Given the description of an element on the screen output the (x, y) to click on. 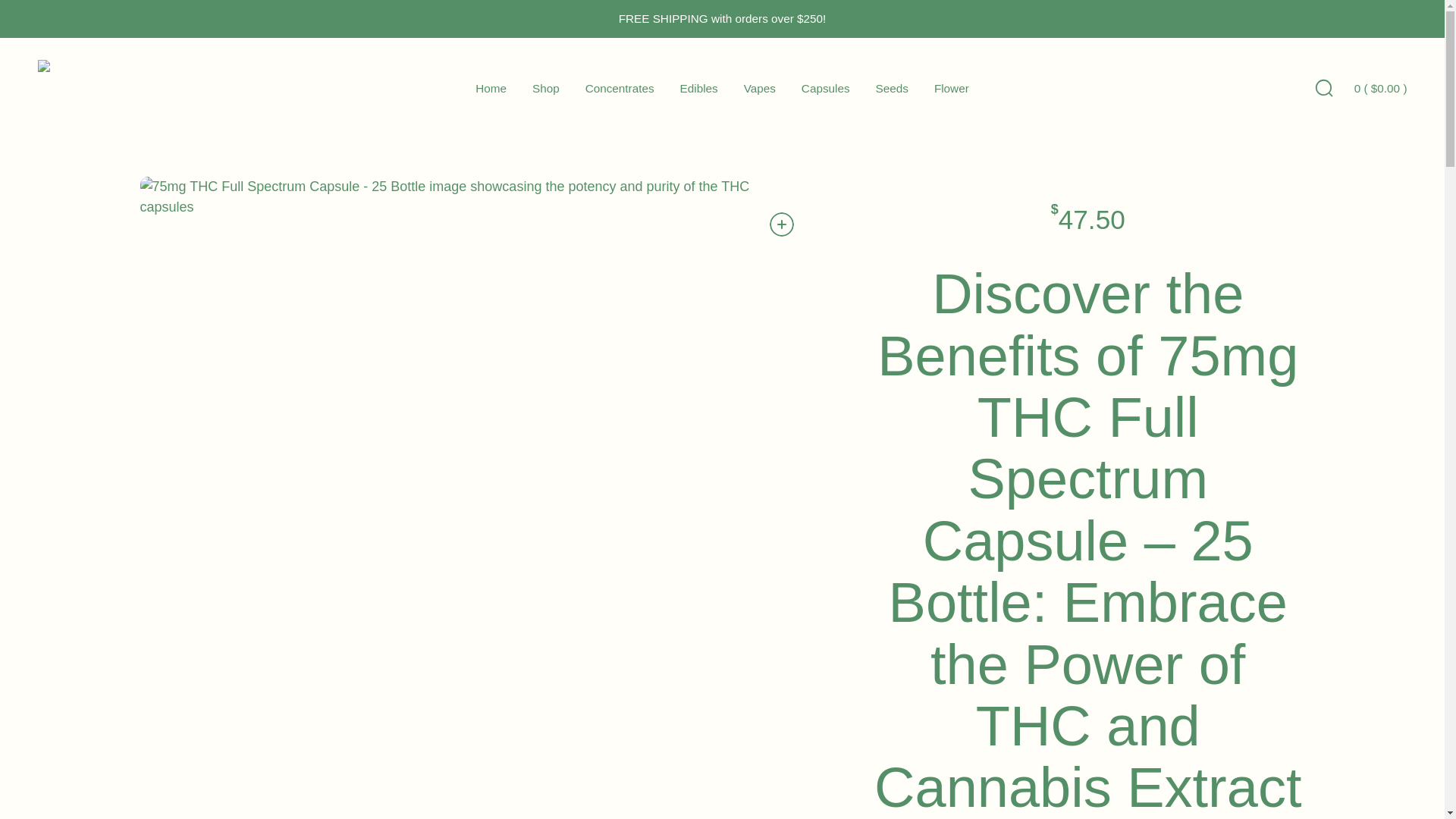
Capsules (826, 88)
Edibles (698, 88)
Vapes (760, 88)
75mg THC Full Spectrum Capsule - 25 bottle (459, 196)
Search (1323, 86)
Concentrates (619, 88)
Home (491, 88)
Seeds (892, 88)
Flower (951, 88)
Search Toggle (1322, 87)
